Given the description of an element on the screen output the (x, y) to click on. 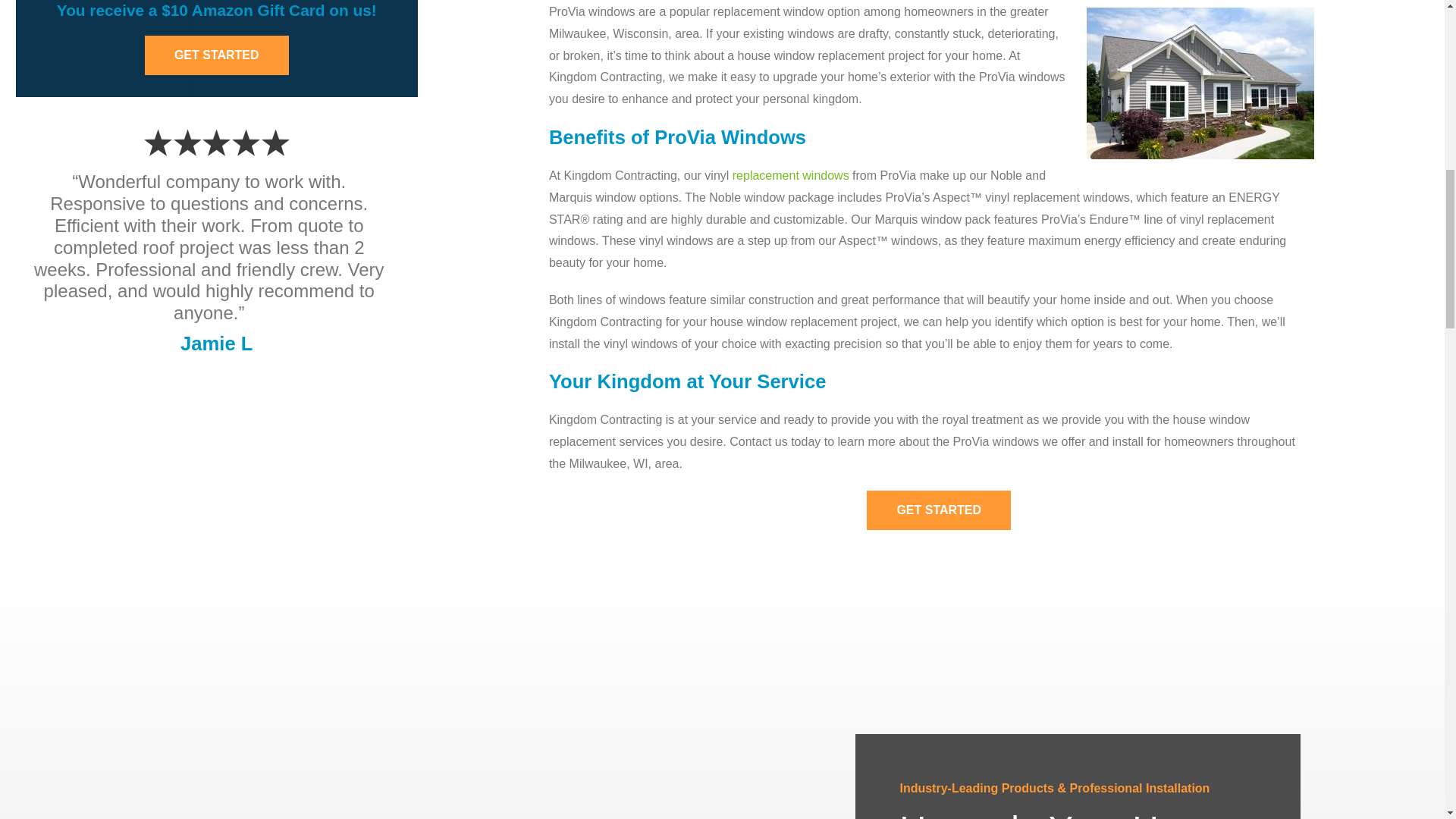
GET STARTED (938, 509)
ProVia Windows Milwaukee WI (1200, 82)
GET STARTED (216, 55)
replacement windows (790, 174)
